Given the description of an element on the screen output the (x, y) to click on. 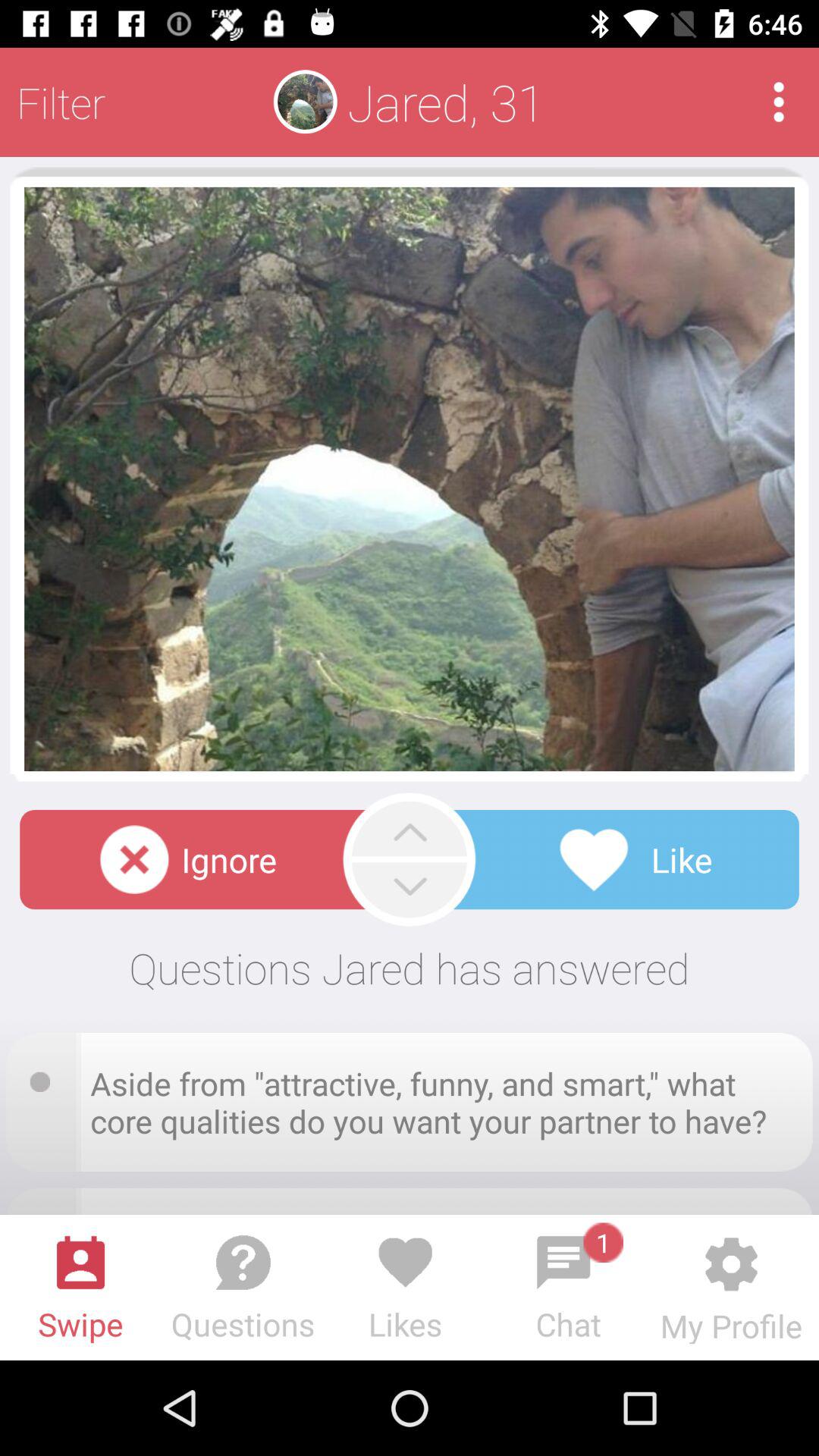
menu selection (778, 101)
